Given the description of an element on the screen output the (x, y) to click on. 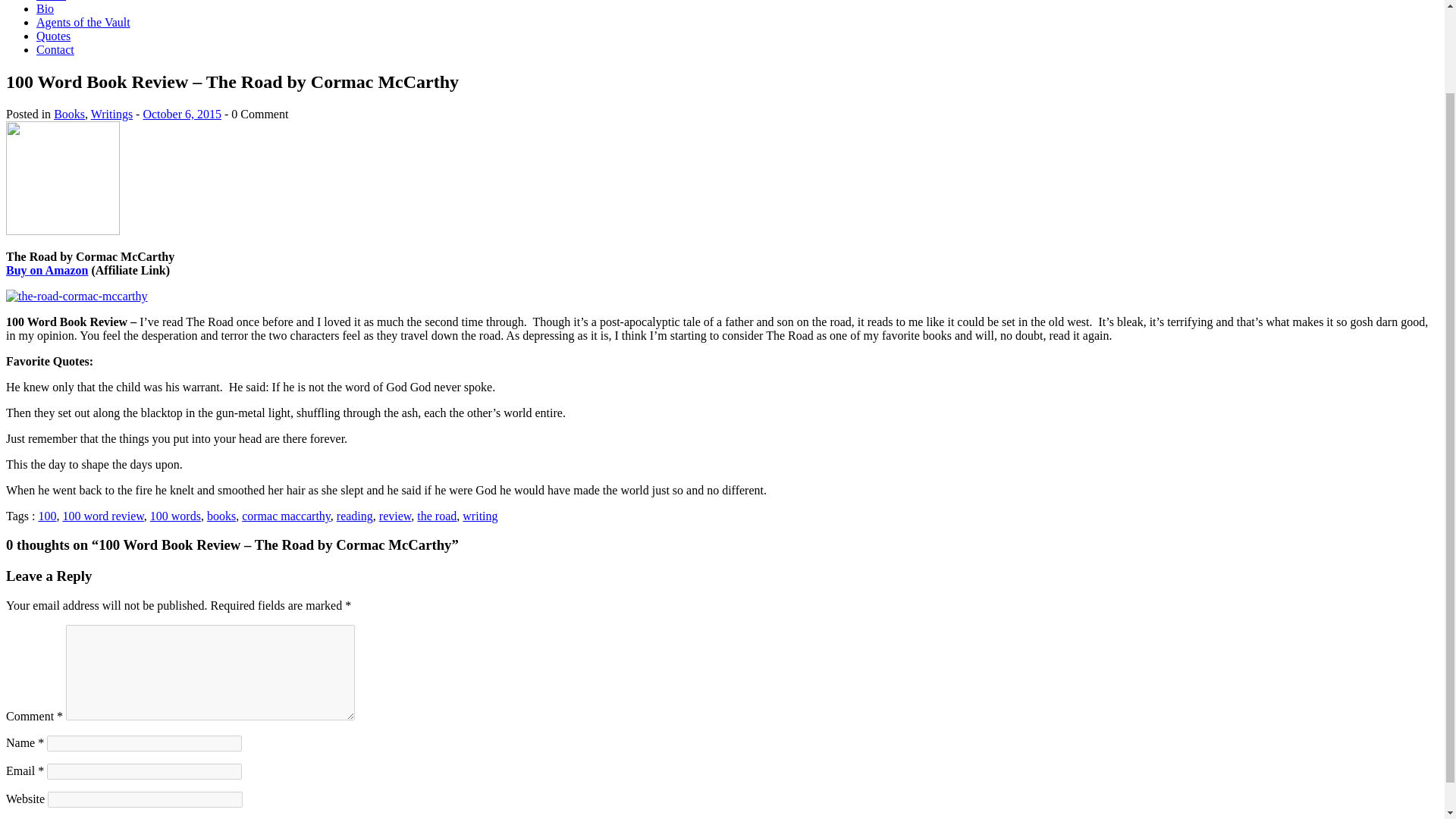
Agents of the Vault (83, 21)
Bio (44, 8)
Contact (55, 49)
Writings (111, 113)
Home (50, 0)
Buy on Amazon (46, 269)
Books (68, 113)
Quotes (52, 35)
the road (436, 515)
cormac maccarthy (285, 515)
review (395, 515)
100 word review (102, 515)
100 (46, 515)
books (220, 515)
writing (480, 515)
